Given the description of an element on the screen output the (x, y) to click on. 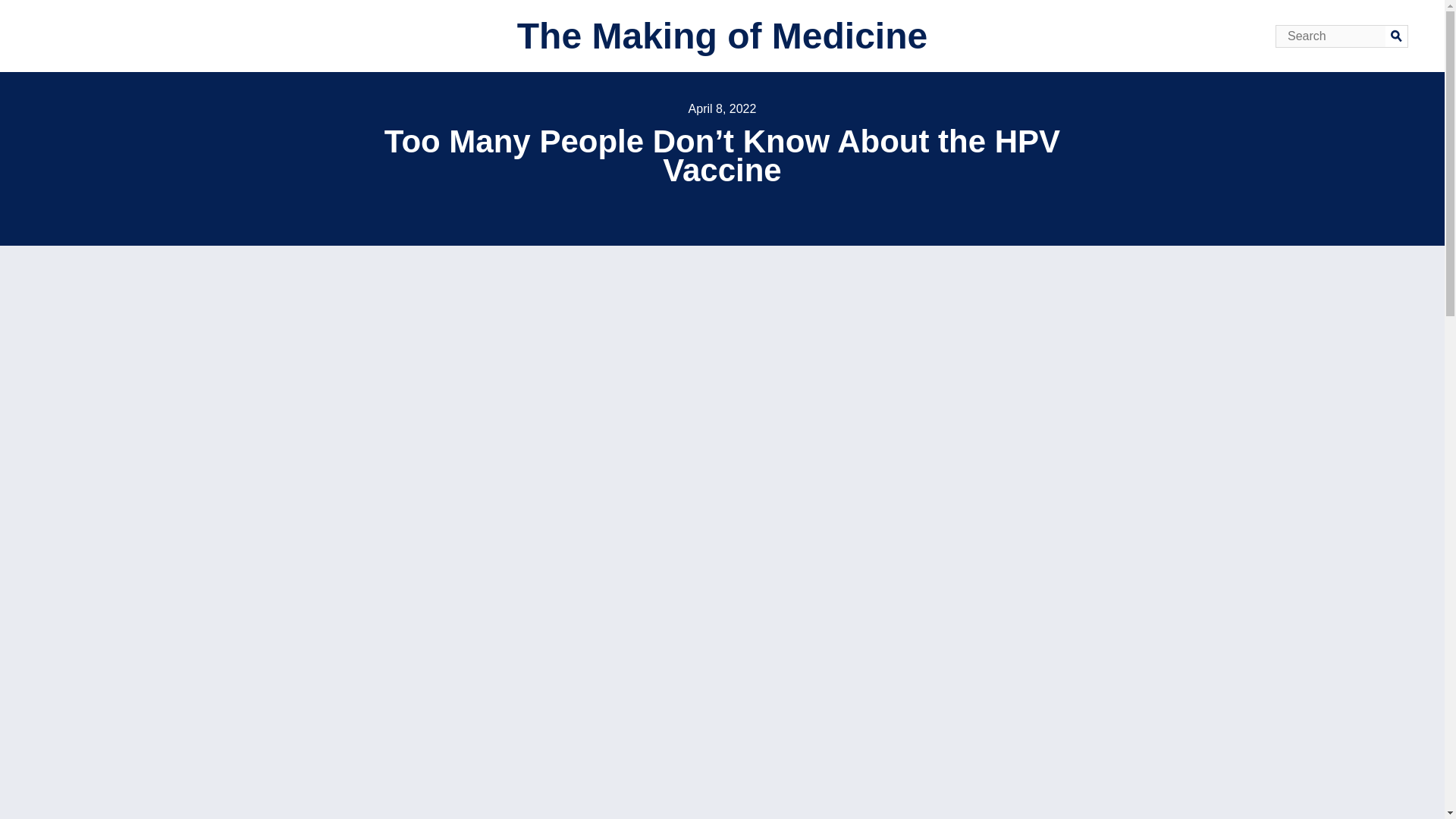
Search Submit (1396, 35)
Submit the Search Form (1396, 35)
The Making of Medicine (721, 35)
Search Toggle (15, 11)
